Given the description of an element on the screen output the (x, y) to click on. 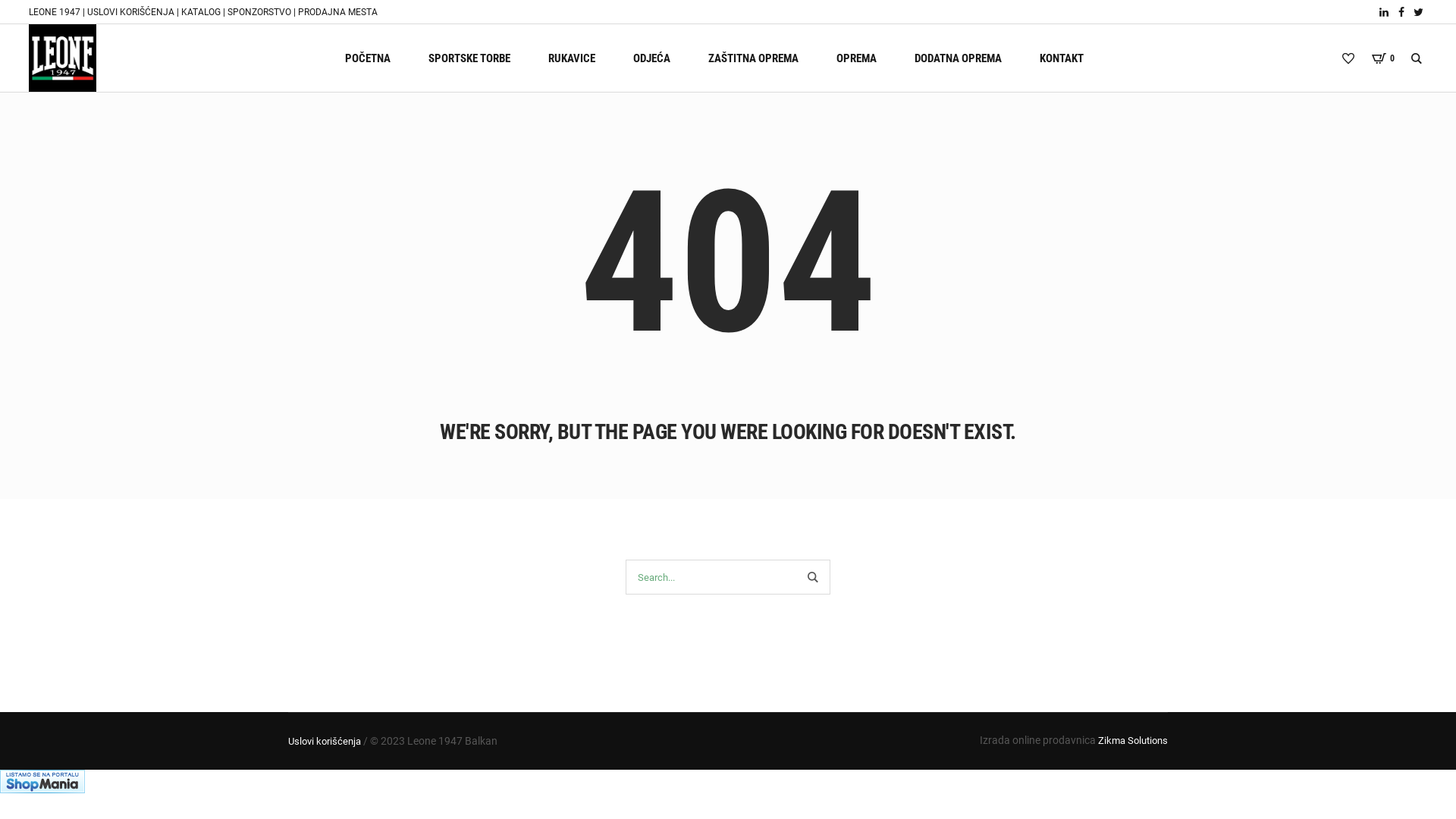
Twitter Element type: hover (1418, 12)
Linkedin Element type: hover (1383, 12)
PRODAJNA MESTA Element type: text (337, 11)
DODATNA OPREMA Element type: text (956, 57)
KATALOG Element type: text (200, 11)
SPORTSKE TORBE Element type: text (469, 57)
Zikma Solutions Element type: text (1131, 740)
0 Element type: text (1383, 57)
Posetite Leone1947.rs na portalu ShopMania Element type: hover (42, 780)
KONTAKT Element type: text (1061, 57)
SPONZORSTVO Element type: text (259, 11)
RUKAVICE Element type: text (571, 57)
OPREMA Element type: text (856, 57)
Facebook Element type: hover (1401, 12)
LEONE 1947 Element type: text (54, 11)
